Given the description of an element on the screen output the (x, y) to click on. 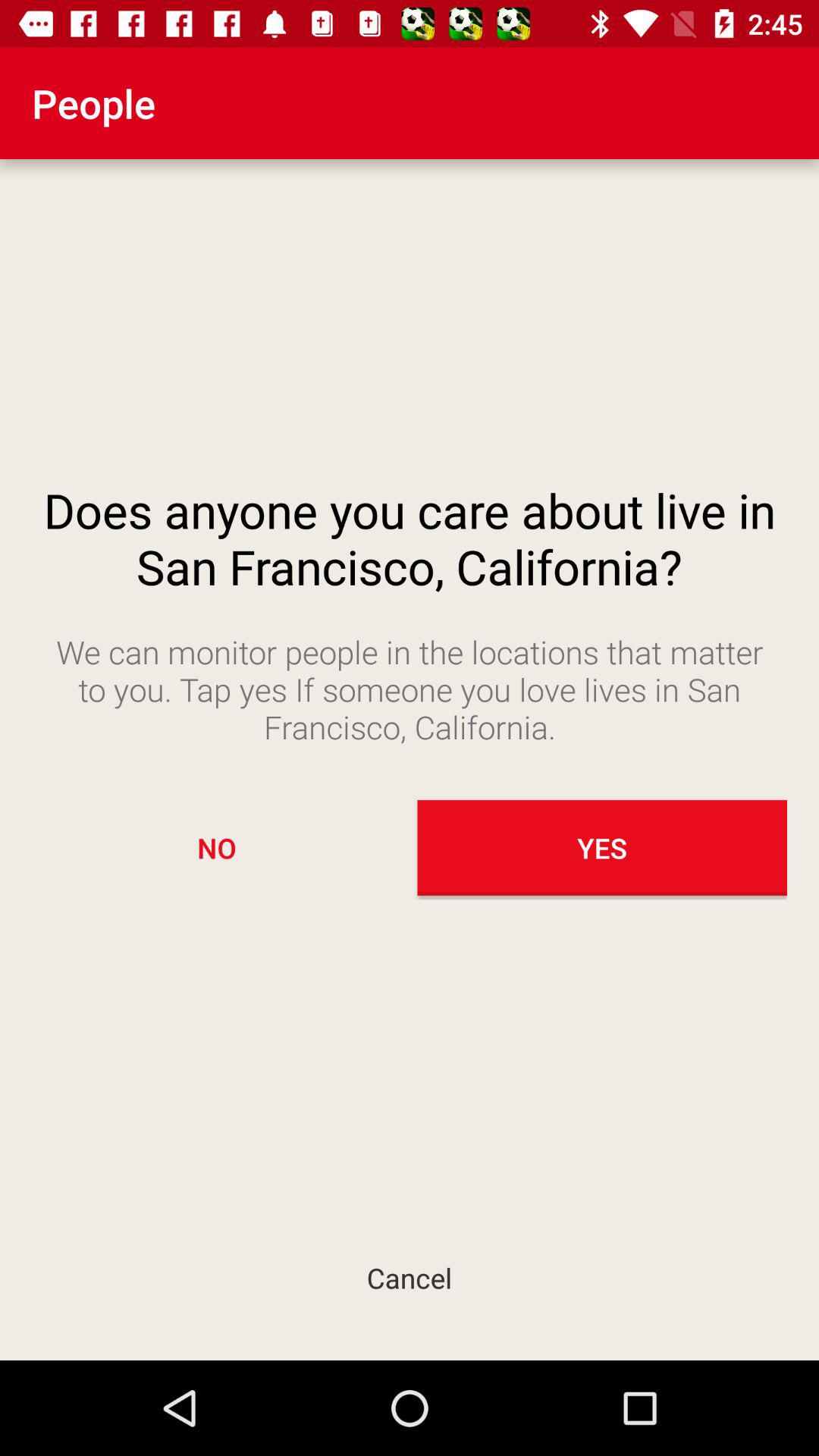
choose item above cancel (216, 847)
